Given the description of an element on the screen output the (x, y) to click on. 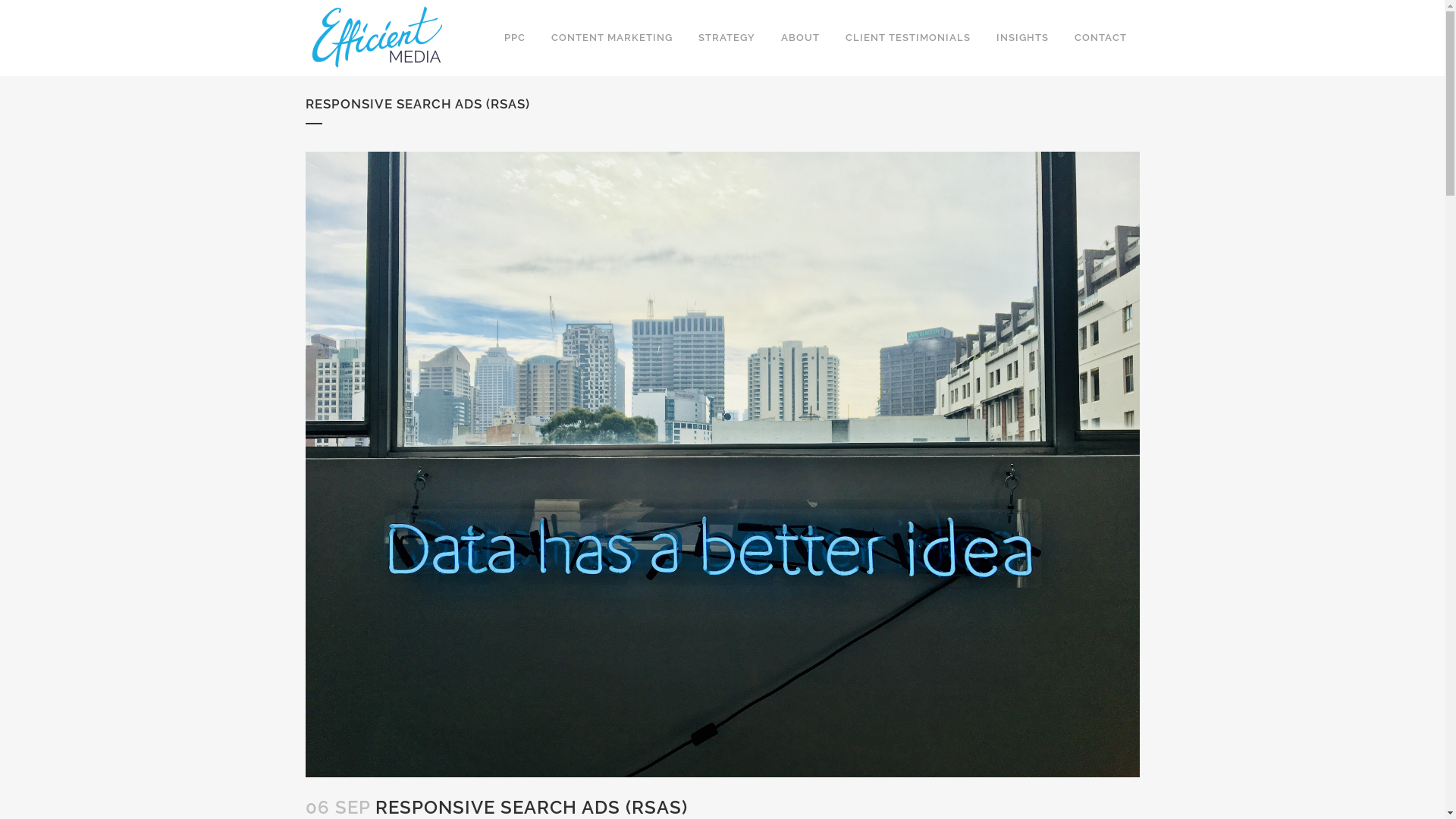
CLIENT TESTIMONIALS Element type: text (907, 37)
INSIGHTS Element type: text (1021, 37)
PPC Element type: text (514, 37)
CONTACT Element type: text (1100, 37)
CONTENT MARKETING Element type: text (611, 37)
Responsive Search Ads (RSAs) 1 Element type: hover (721, 464)
STRATEGY Element type: text (726, 37)
ABOUT Element type: text (799, 37)
